Given the description of an element on the screen output the (x, y) to click on. 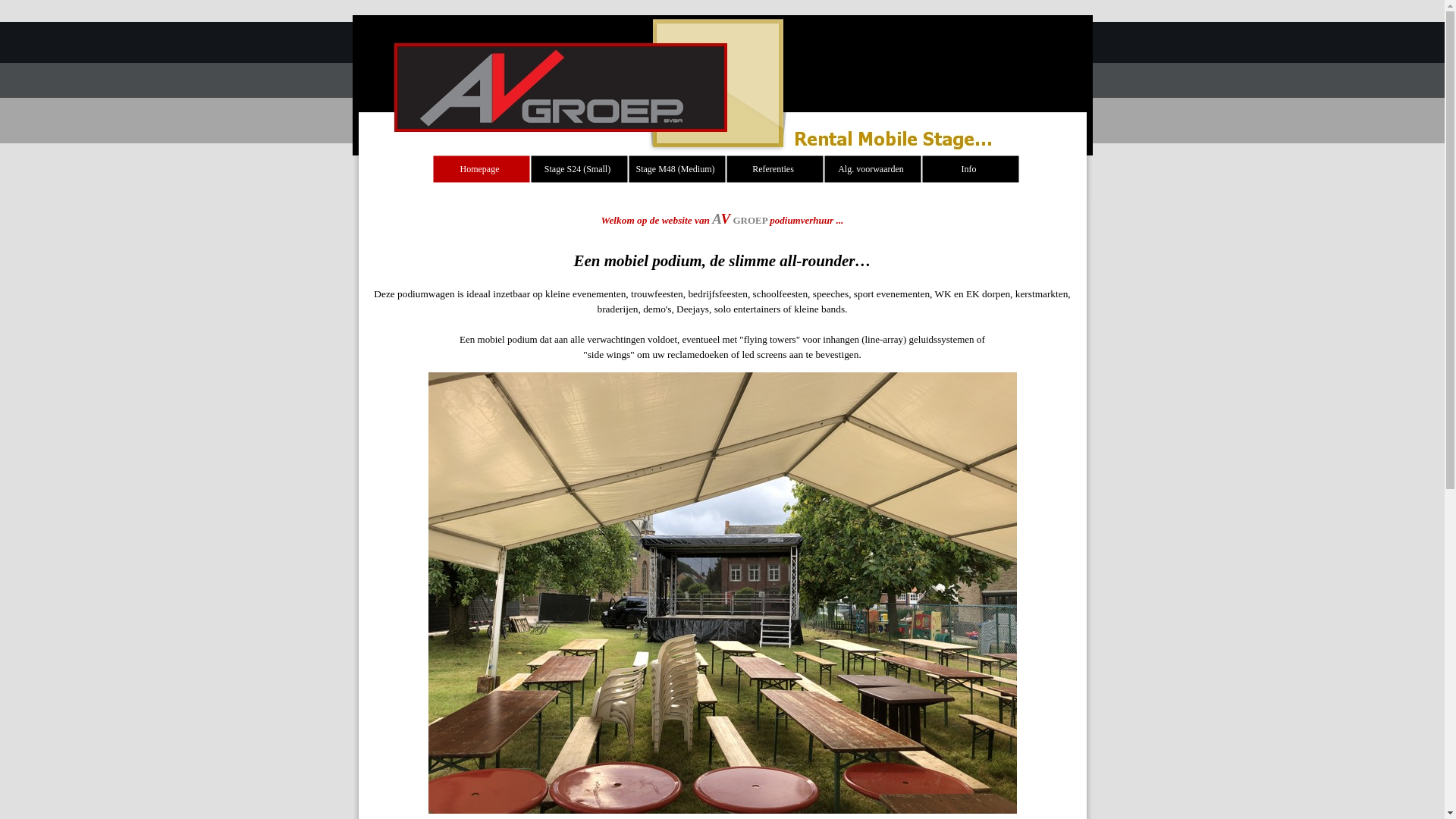
Info Element type: text (970, 168)
Alg. voorwaarden Element type: text (872, 168)
Homepage Element type: text (481, 168)
Referenties Element type: text (775, 168)
Stage S24 (Small) Element type: text (579, 168)
Stage M48 (Medium) Element type: text (676, 168)
